Given the description of an element on the screen output the (x, y) to click on. 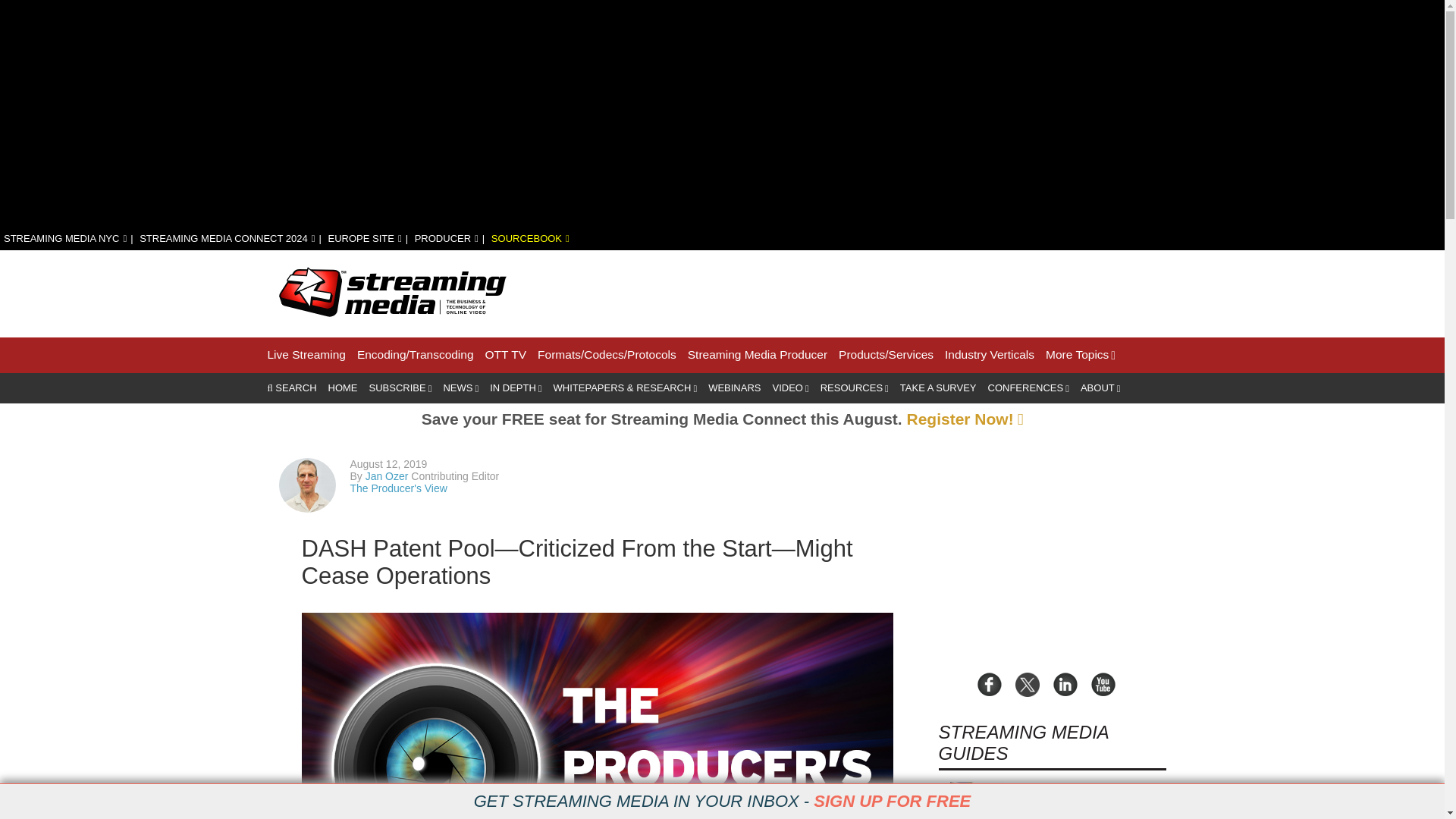
NEWS (460, 388)
Live Streaming (305, 355)
Streaming Media Producer (757, 355)
STREAMING MEDIA CONNECT 2024 (226, 238)
SOURCEBOOK (530, 238)
EUROPE SITE (364, 238)
 SEARCH (290, 387)
OTT TV (505, 355)
More Topics (1080, 355)
GET STREAMING MEDIA IN YOUR INBOX - SIGN UP FOR FREE (722, 801)
PRODUCER (446, 238)
Industry Verticals (988, 355)
STREAMING MEDIA NYC (65, 238)
Industry Verticals (988, 355)
3rd party ad content (890, 291)
